Given the description of an element on the screen output the (x, y) to click on. 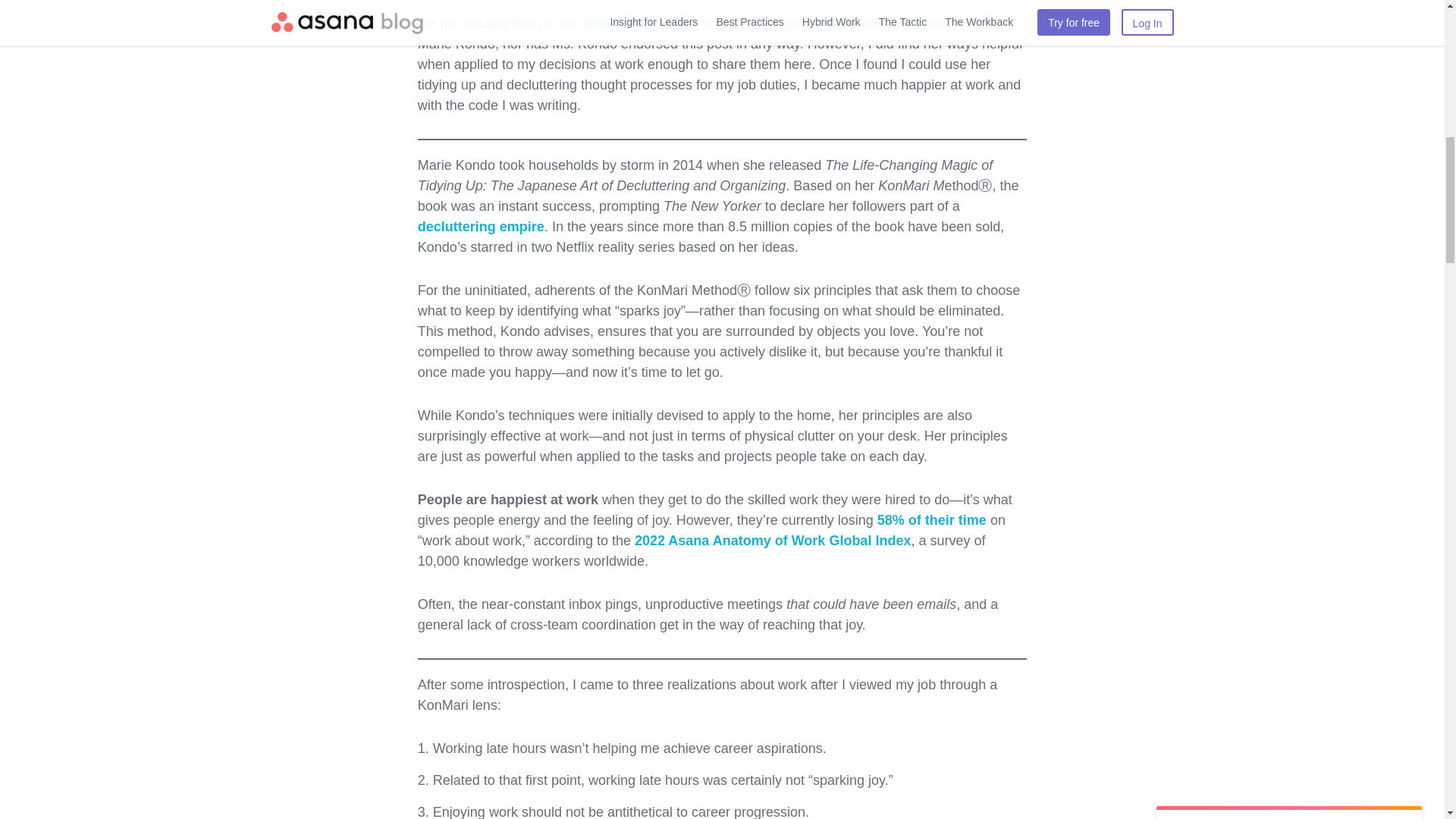
no official consultant (628, 23)
decluttering empire (480, 226)
2022 Asana Anatomy of Work Global Index (772, 540)
Subscribe (1289, 126)
Enter your email (1289, 85)
